Given the description of an element on the screen output the (x, y) to click on. 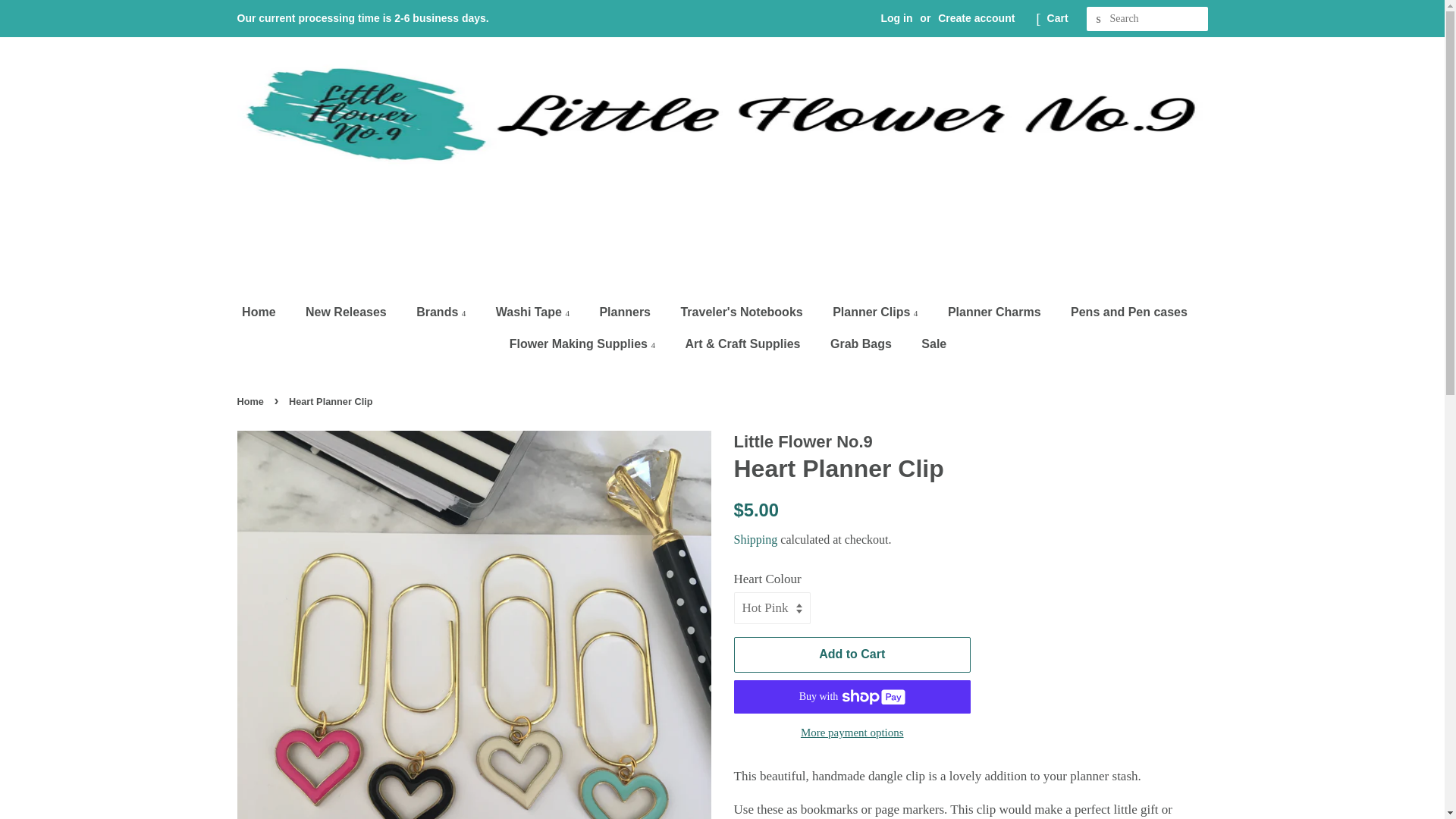
Search (1097, 18)
Cart (1057, 18)
Back to the frontpage (250, 401)
Log in (896, 18)
Create account (975, 18)
